Given the description of an element on the screen output the (x, y) to click on. 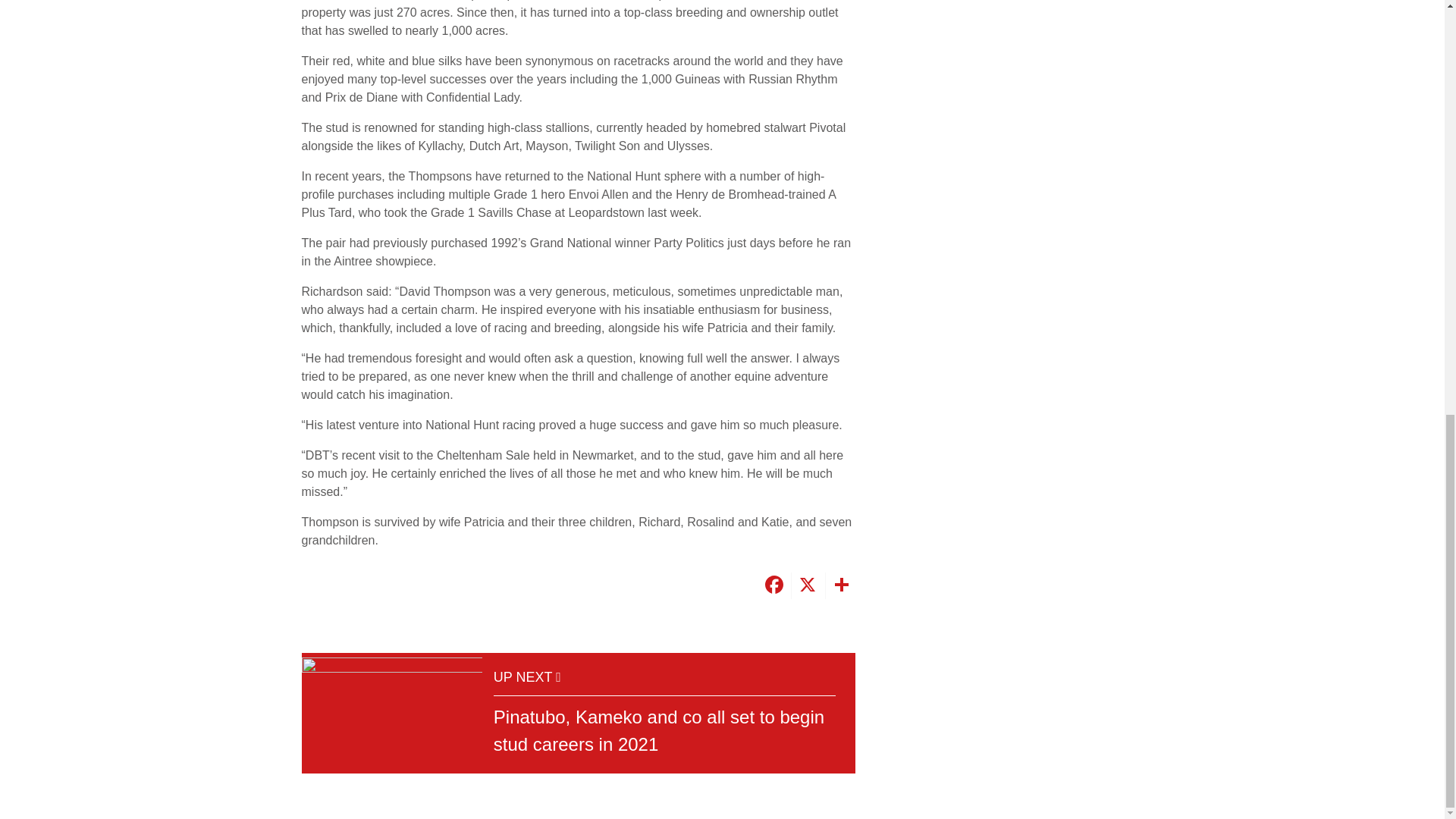
X (805, 585)
Facebook (772, 585)
Share (840, 585)
